Given the description of an element on the screen output the (x, y) to click on. 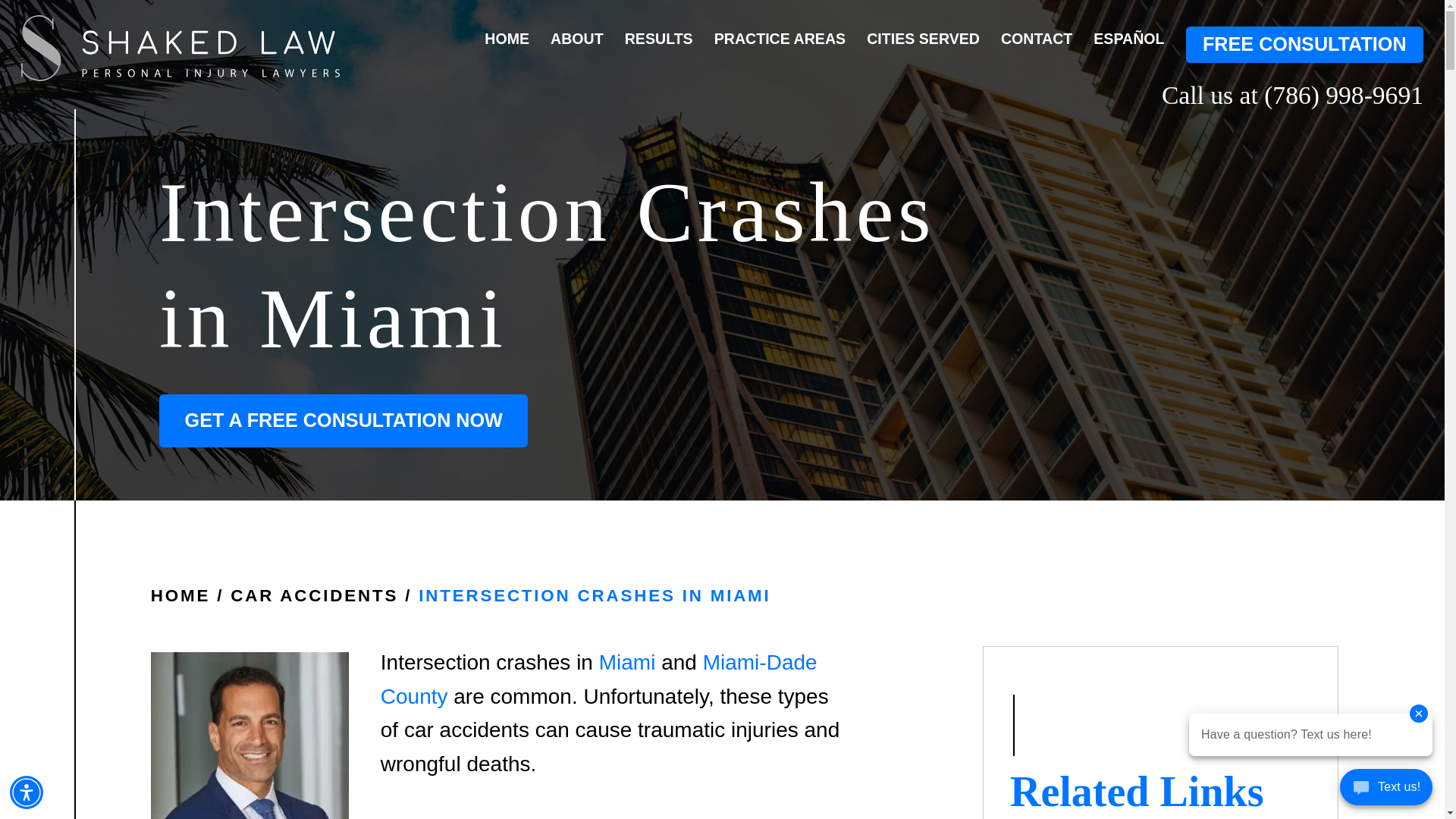
Accessibility Menu (26, 792)
PRACTICE AREAS (779, 38)
HOME (180, 595)
RESULTS (658, 38)
FREE CONSULTATION (1304, 44)
HOME (506, 38)
FREE CONSULTATION (1304, 44)
ABOUT (577, 38)
Miami-Dade County (598, 679)
GET A FREE CONSULTATION NOW (342, 420)
GET A FREE CONSULTATION NOW (342, 420)
Shaked Law Personal Injury Lawyers - Miami, Florida (180, 48)
Miami (627, 662)
CAR ACCIDENTS (313, 595)
CONTACT (1036, 38)
